Given the description of an element on the screen output the (x, y) to click on. 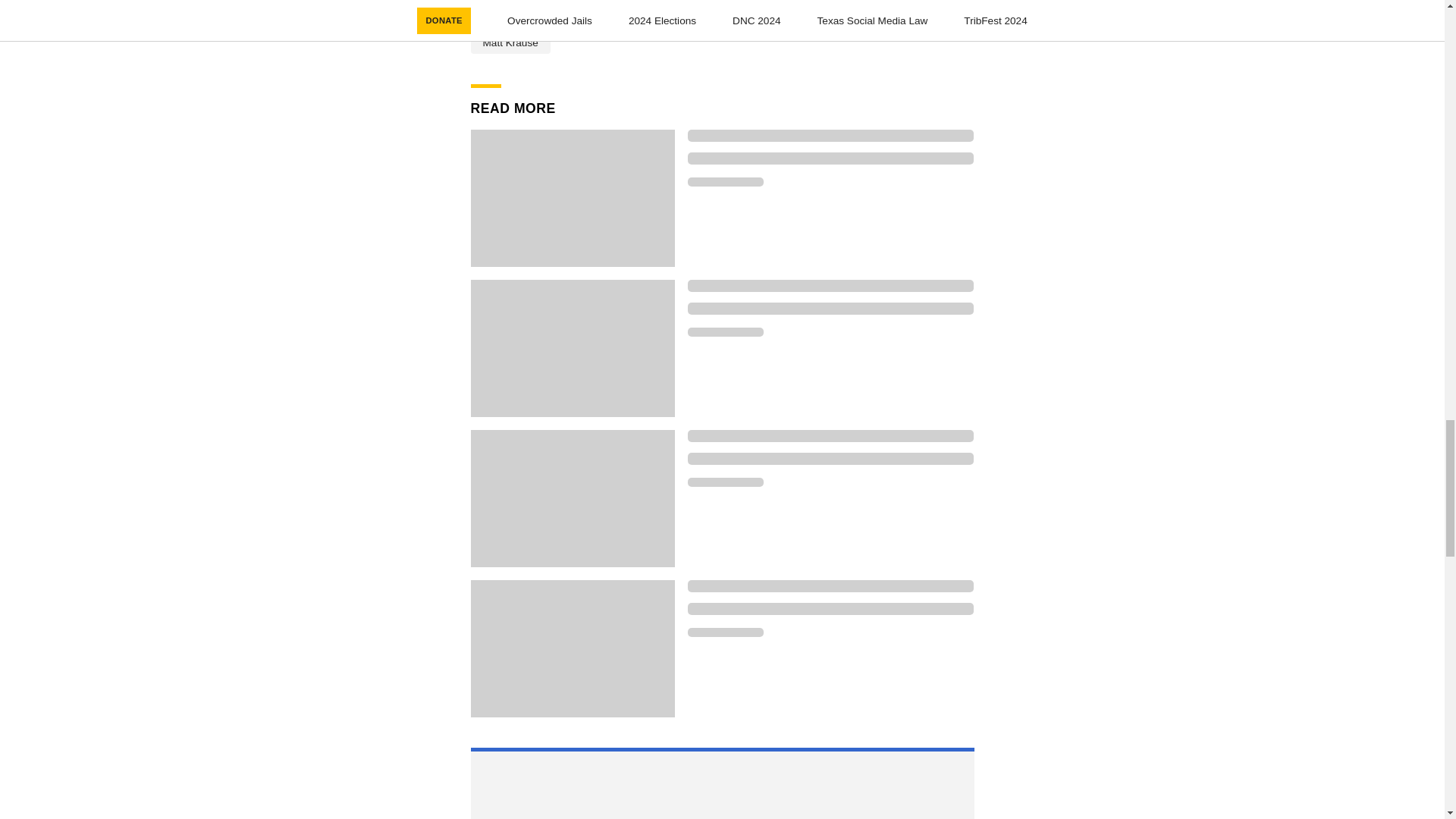
Loading indicator (830, 435)
Loading indicator (724, 181)
Loading indicator (830, 308)
Loading indicator (830, 158)
Loading indicator (724, 481)
Loading indicator (830, 608)
Loading indicator (830, 135)
Loading indicator (830, 585)
Loading indicator (724, 632)
Loading indicator (724, 331)
